Given the description of an element on the screen output the (x, y) to click on. 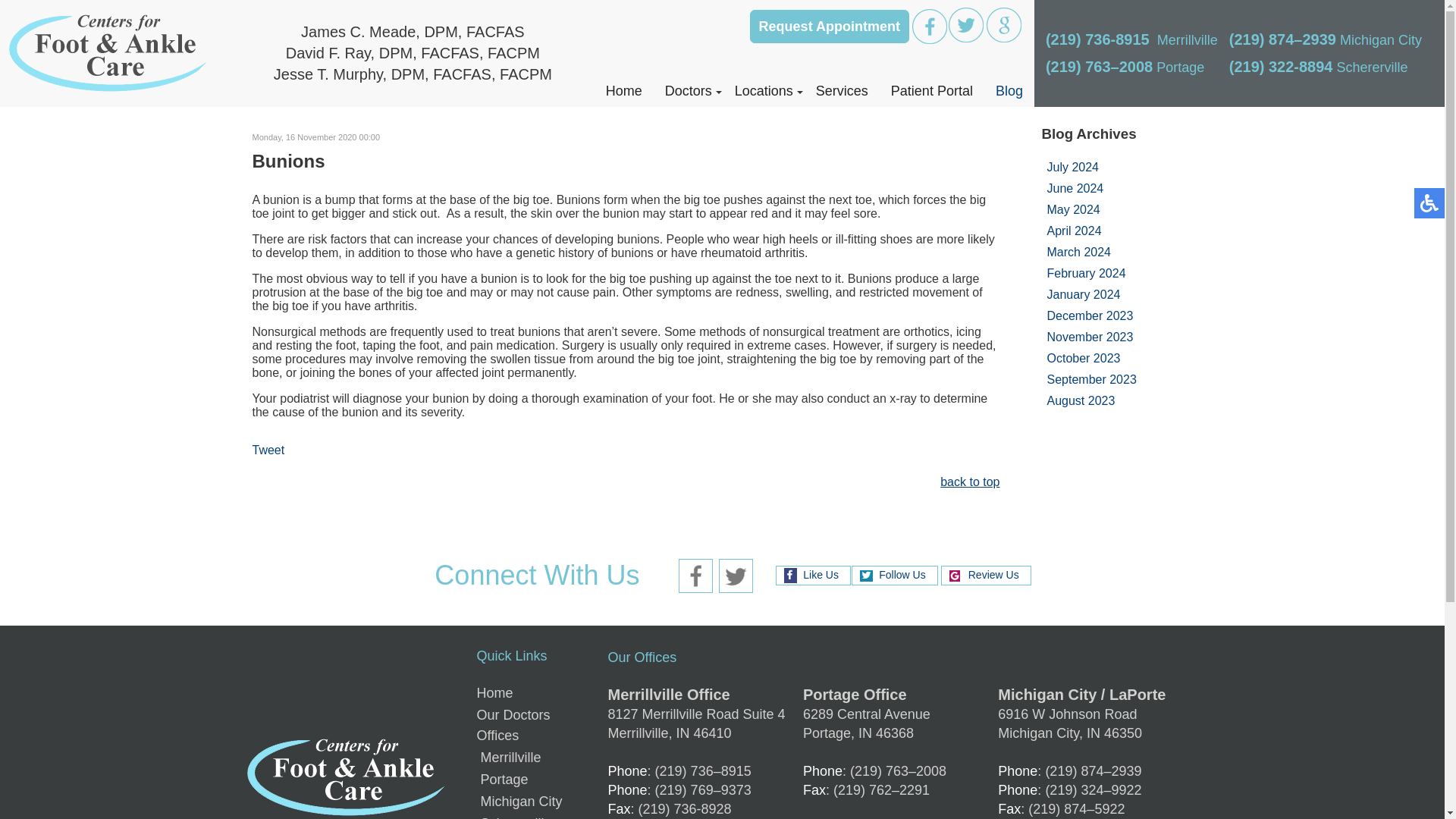
Schedule an Appointment (828, 25)
February 2024 (1085, 273)
Like Us on Facebook (929, 26)
Northwest Indiana Podiatry Blog (1009, 90)
May 2024 (1072, 209)
Follow Us on Twitter (966, 24)
Blog (1009, 90)
March 2024 (1078, 251)
December 2023 (1089, 315)
January 2024 (1082, 294)
June 2024 (1074, 187)
Review Us on Google (1004, 24)
Patient Portal (931, 90)
Services (841, 90)
